Given the description of an element on the screen output the (x, y) to click on. 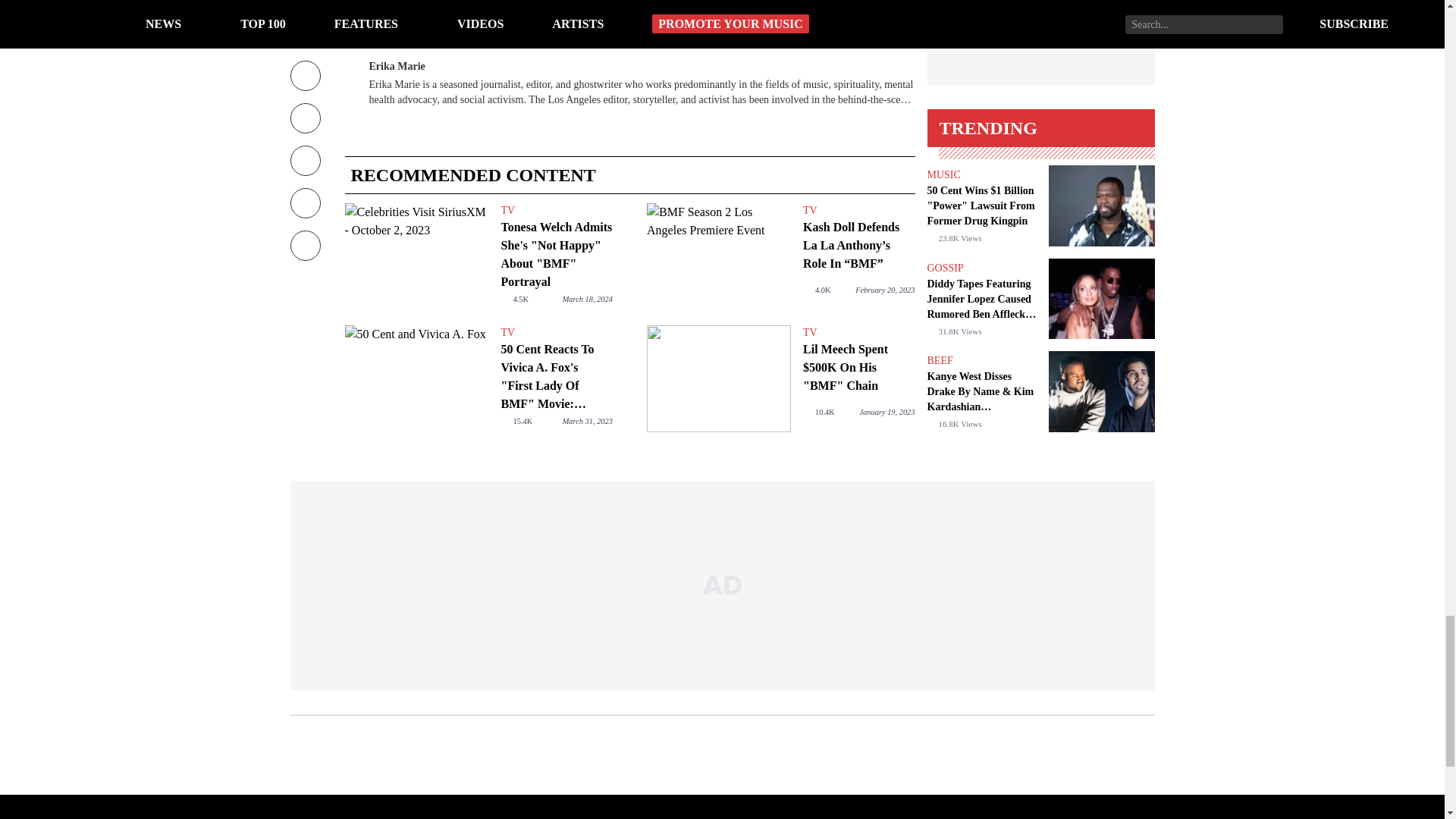
TV (555, 210)
Erika Marie (396, 64)
TONESA WELCH (532, 4)
January 19, 2023 (886, 411)
LA LA ANTHONY (451, 4)
NEWS (634, 4)
March 31, 2023 (587, 420)
BMF (394, 4)
TV (555, 332)
Tonesa Welch Admits She's "Not Happy" About "BMF" Portrayal (415, 256)
March 18, 2024 (587, 298)
TV (858, 210)
Tonesa Welch Admits She's "Not Happy" About "BMF" Portrayal (555, 254)
February 20, 2023 (885, 289)
GRAM (593, 4)
